Given the description of an element on the screen output the (x, y) to click on. 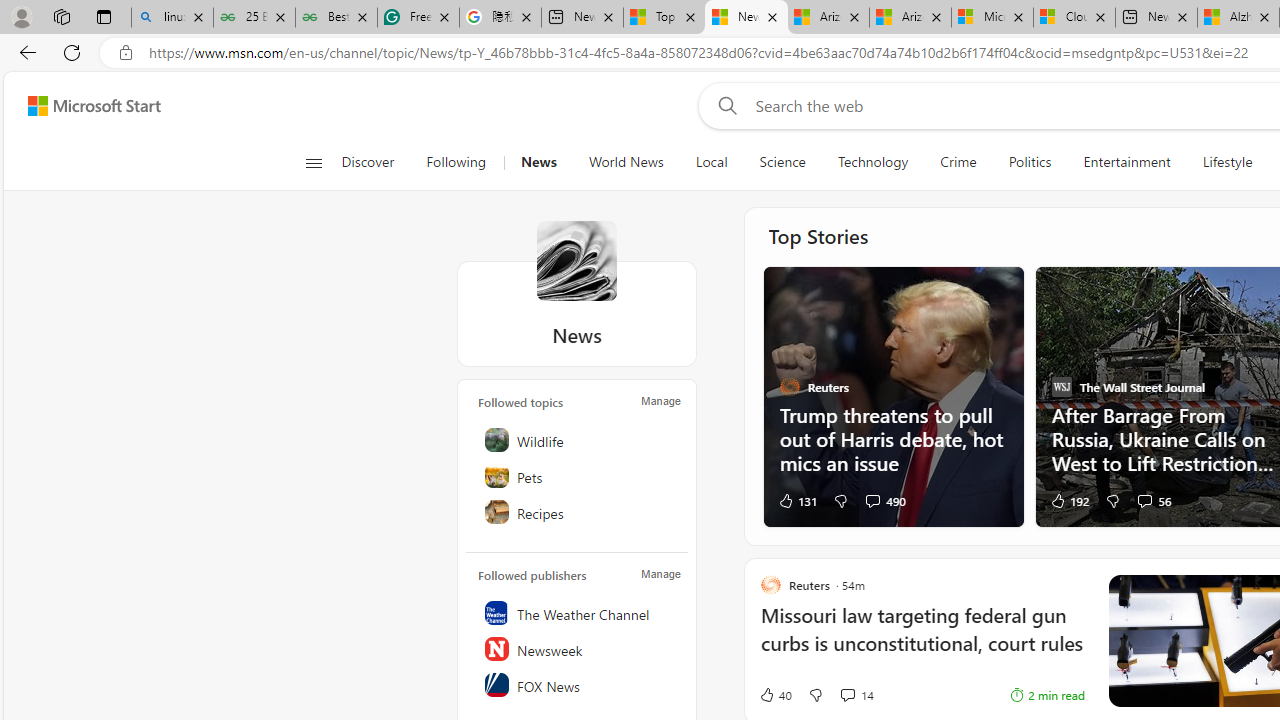
Skip to footer (82, 105)
Cloud Computing Services | Microsoft Azure (1074, 17)
Crime (957, 162)
Politics (1029, 162)
Lifestyle (1227, 162)
World News (625, 162)
Wildlife (578, 439)
Open navigation menu (313, 162)
View comments 490 Comment (872, 500)
Class: button-glyph (313, 162)
Entertainment (1126, 162)
Free AI Writing Assistance for Students | Grammarly (418, 17)
